Given the description of an element on the screen output the (x, y) to click on. 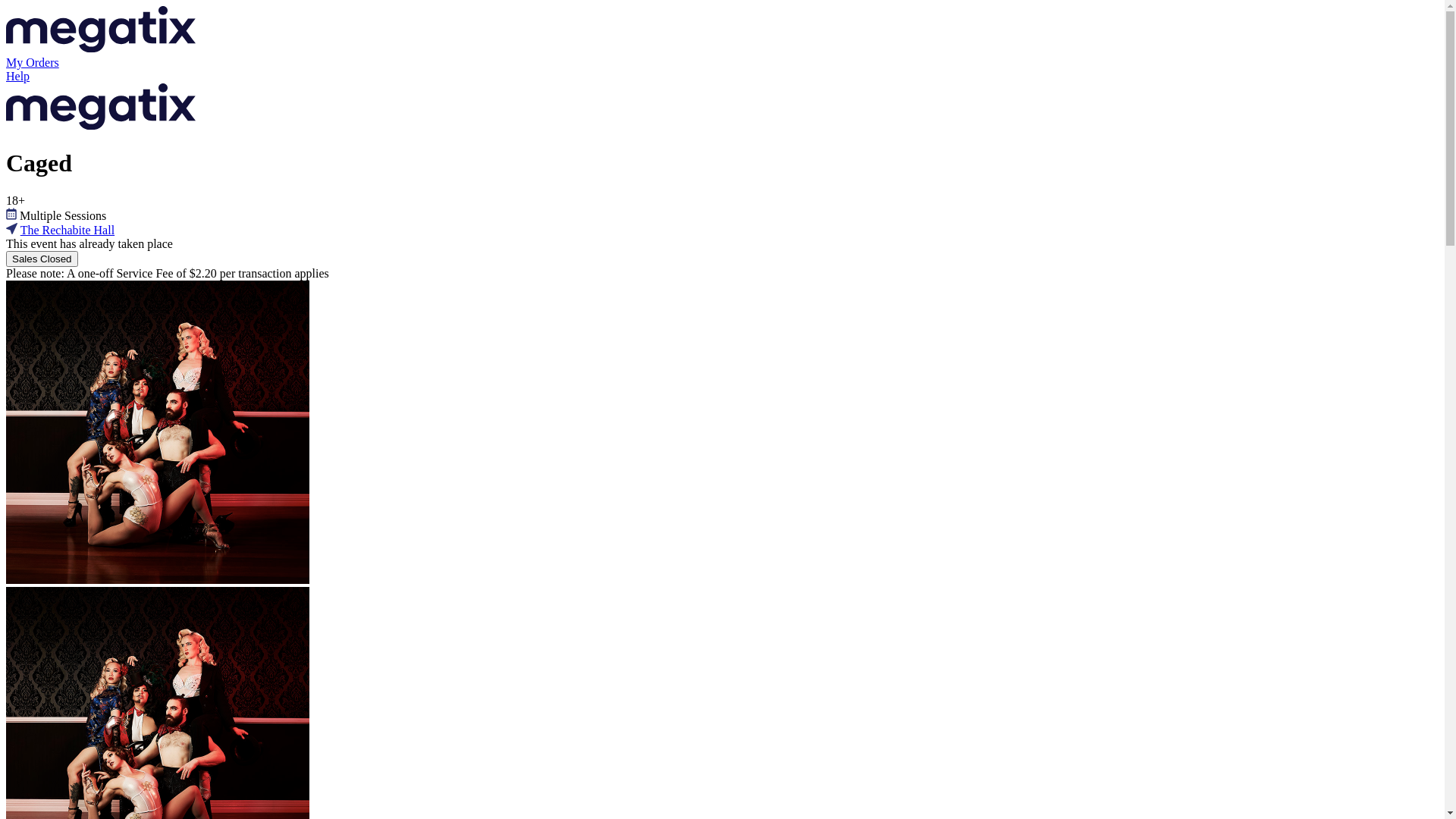
Sales Closed Element type: text (42, 258)
The Rechabite Hall Element type: text (67, 229)
My Orders Element type: text (722, 62)
Help Element type: text (722, 76)
